Given the description of an element on the screen output the (x, y) to click on. 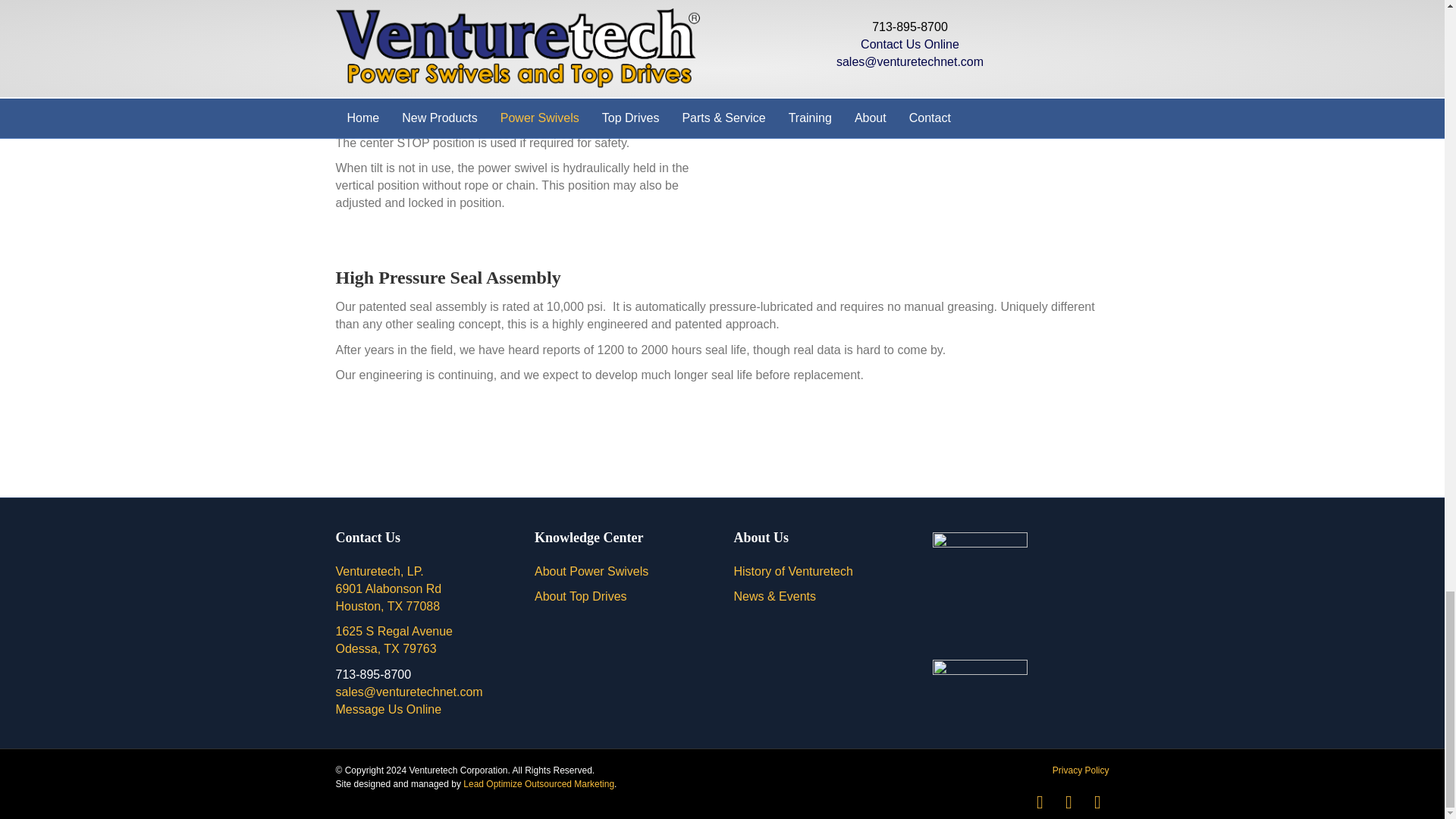
Venturetech, LP. (378, 571)
Watch Power Tilt Promo Video (387, 605)
